Given the description of an element on the screen output the (x, y) to click on. 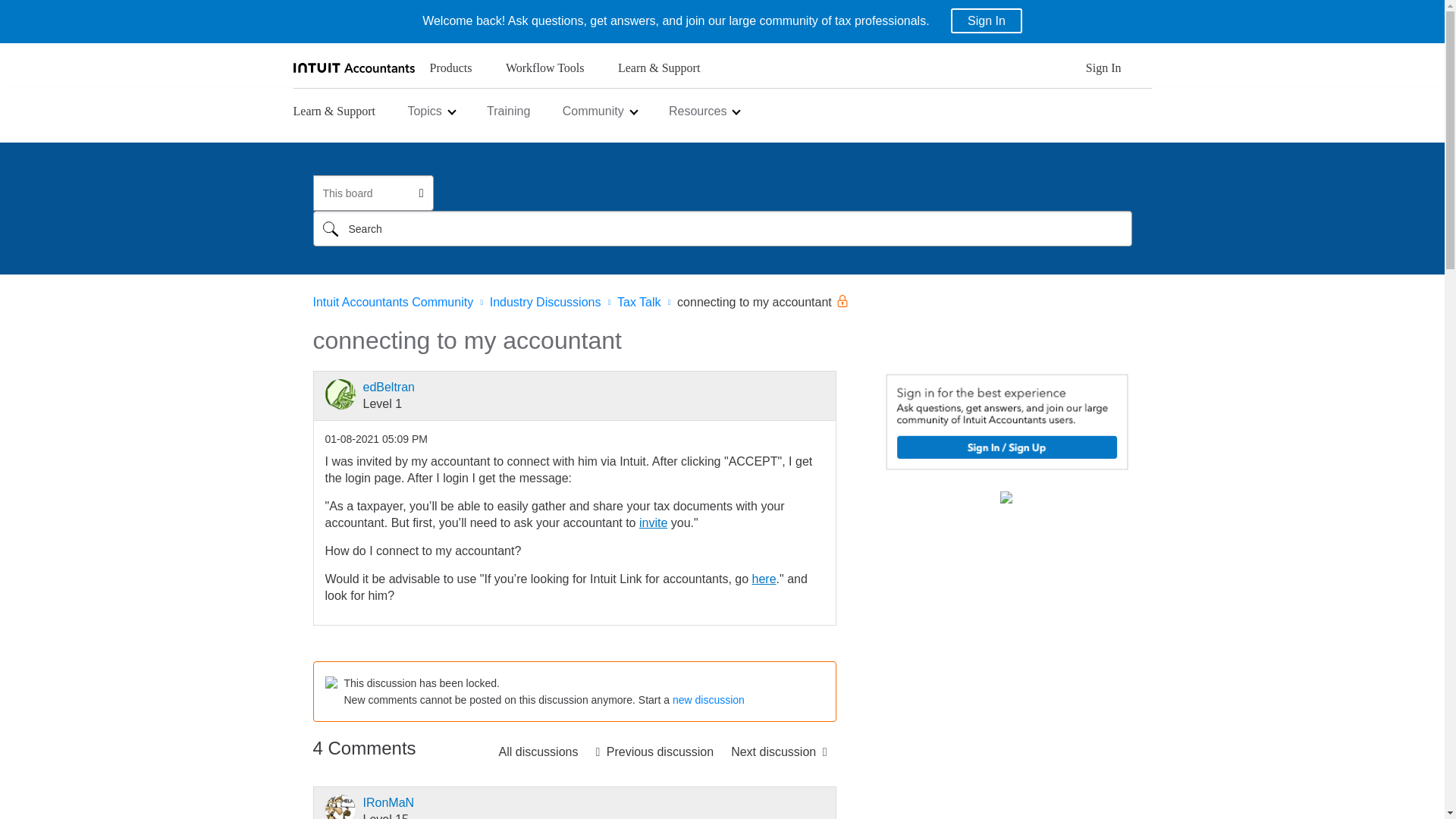
Sign In (1103, 72)
EIP Problems?  Write Your Member of Congress (778, 751)
edBeltran (339, 394)
Tax Talk (538, 751)
Search (330, 228)
Sign In (986, 20)
Search Granularity (371, 192)
Search (722, 228)
Posted on (375, 439)
Search (330, 228)
IRS Update January 13 on Return Processing, Check Cashing (654, 751)
